Given the description of an element on the screen output the (x, y) to click on. 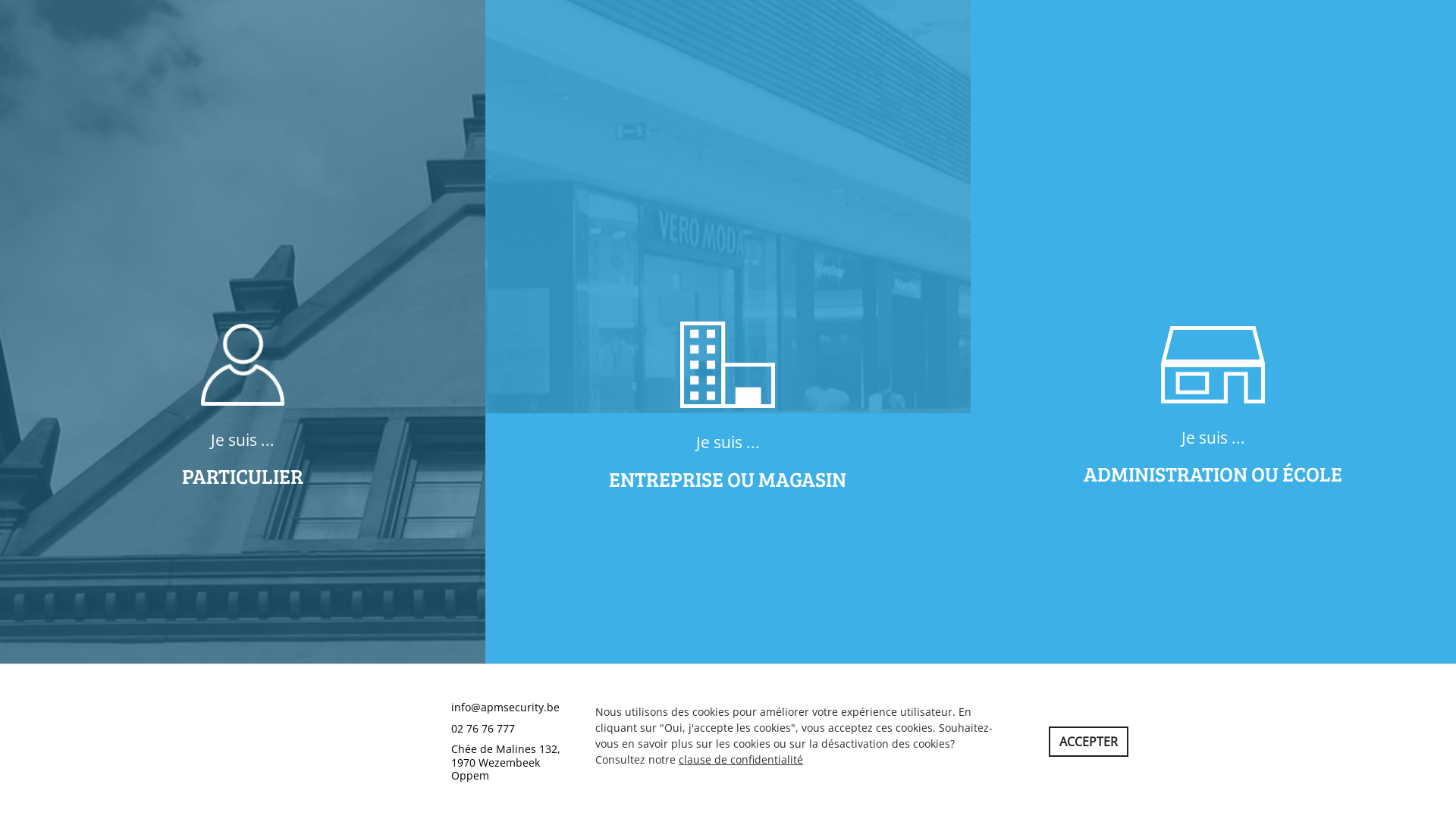
ACCEPTER Element type: text (1087, 741)
info@apmsecurity.be Element type: text (505, 706)
02 76 76 777 Element type: text (482, 728)
